Given the description of an element on the screen output the (x, y) to click on. 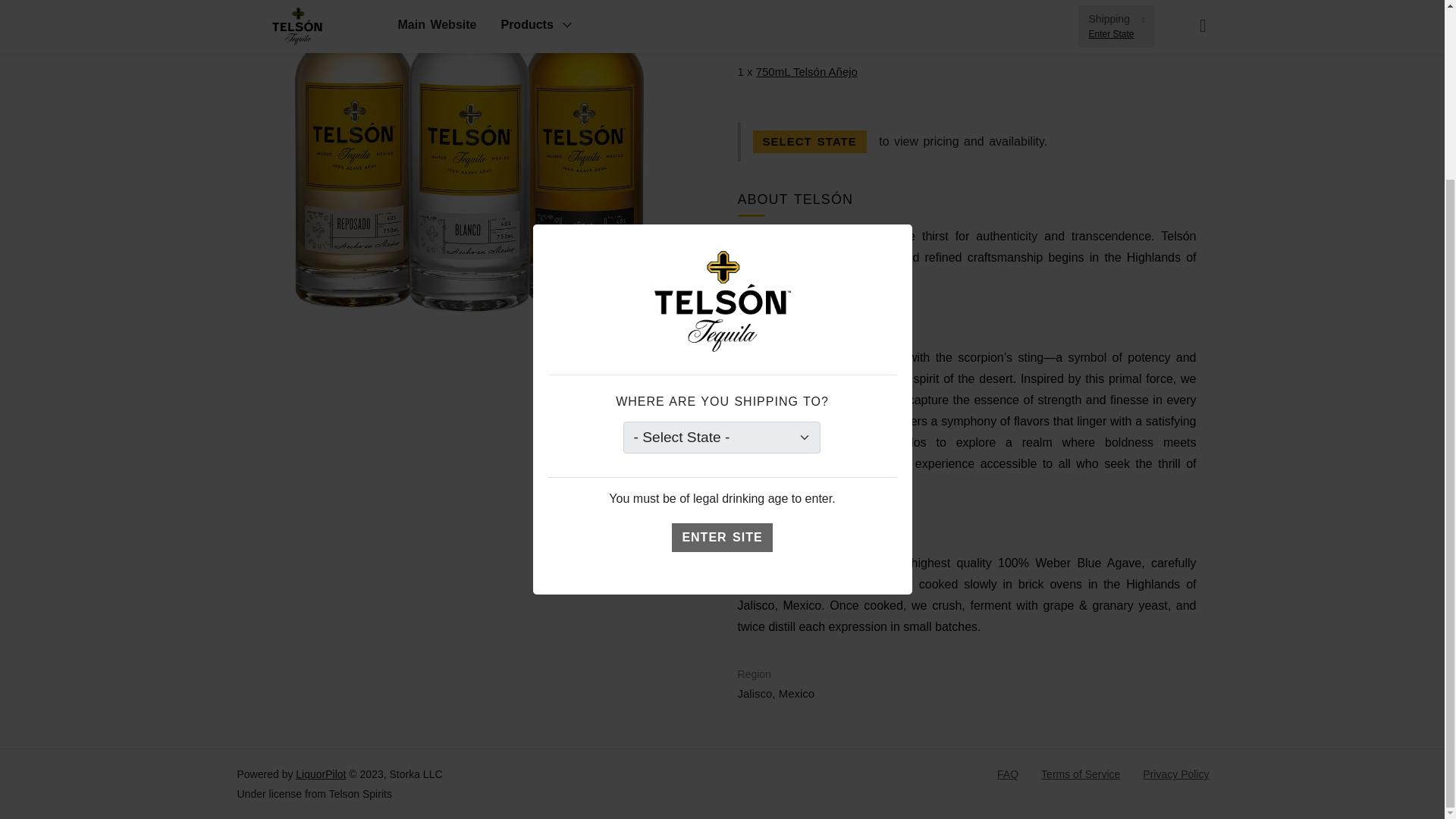
ENTER SITE (721, 317)
SELECT STATE (809, 141)
Terms of Service (1080, 774)
Privacy Policy (1175, 774)
LiquorPilot (320, 774)
FAQ (1007, 774)
